Given the description of an element on the screen output the (x, y) to click on. 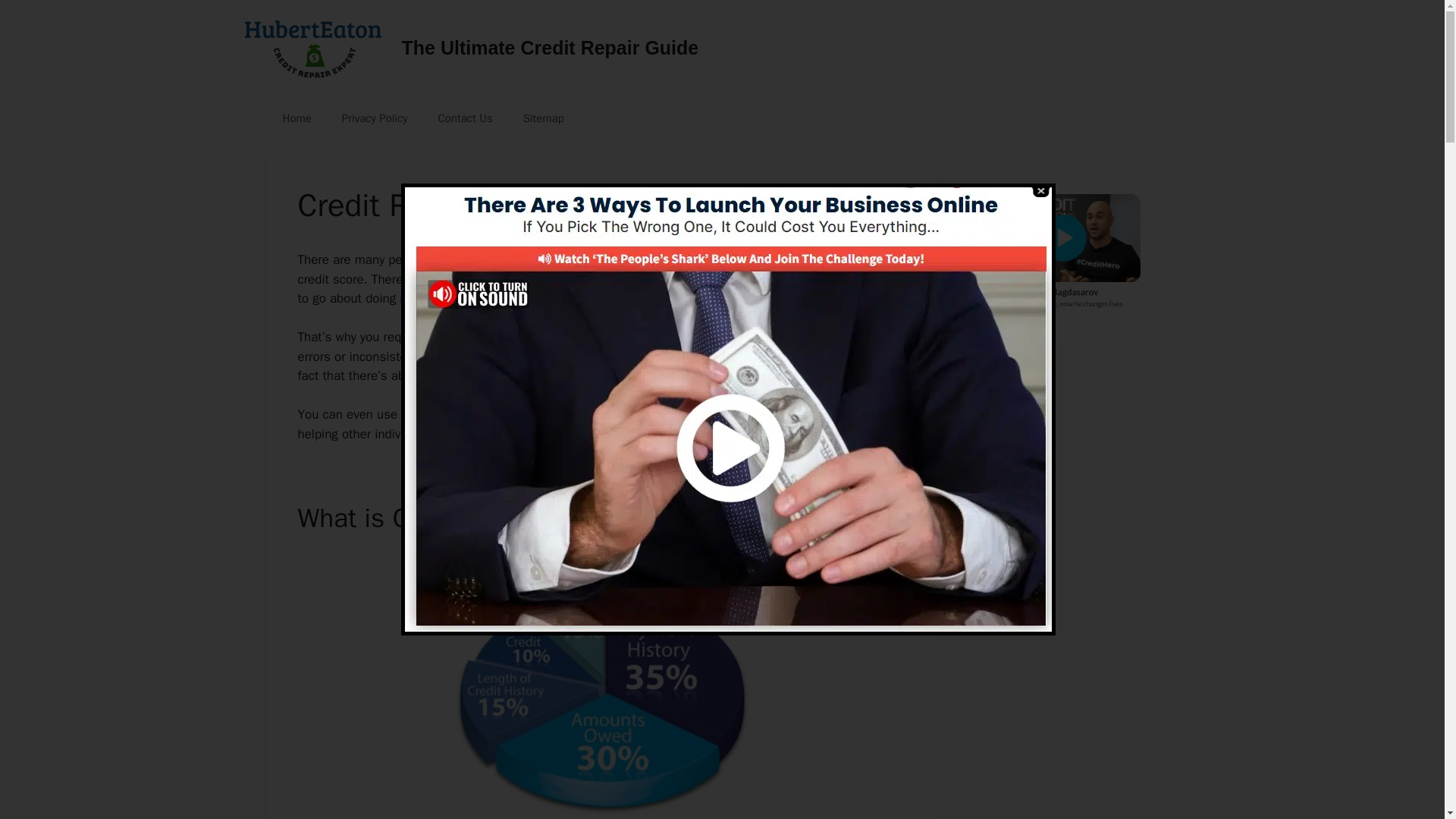
your own credit repair business (775, 414)
Close (1039, 191)
Contact Us (464, 117)
Sitemap (543, 117)
Home (296, 117)
The Ultimate Credit Repair Guide (549, 47)
Privacy Policy (374, 117)
